Given the description of an element on the screen output the (x, y) to click on. 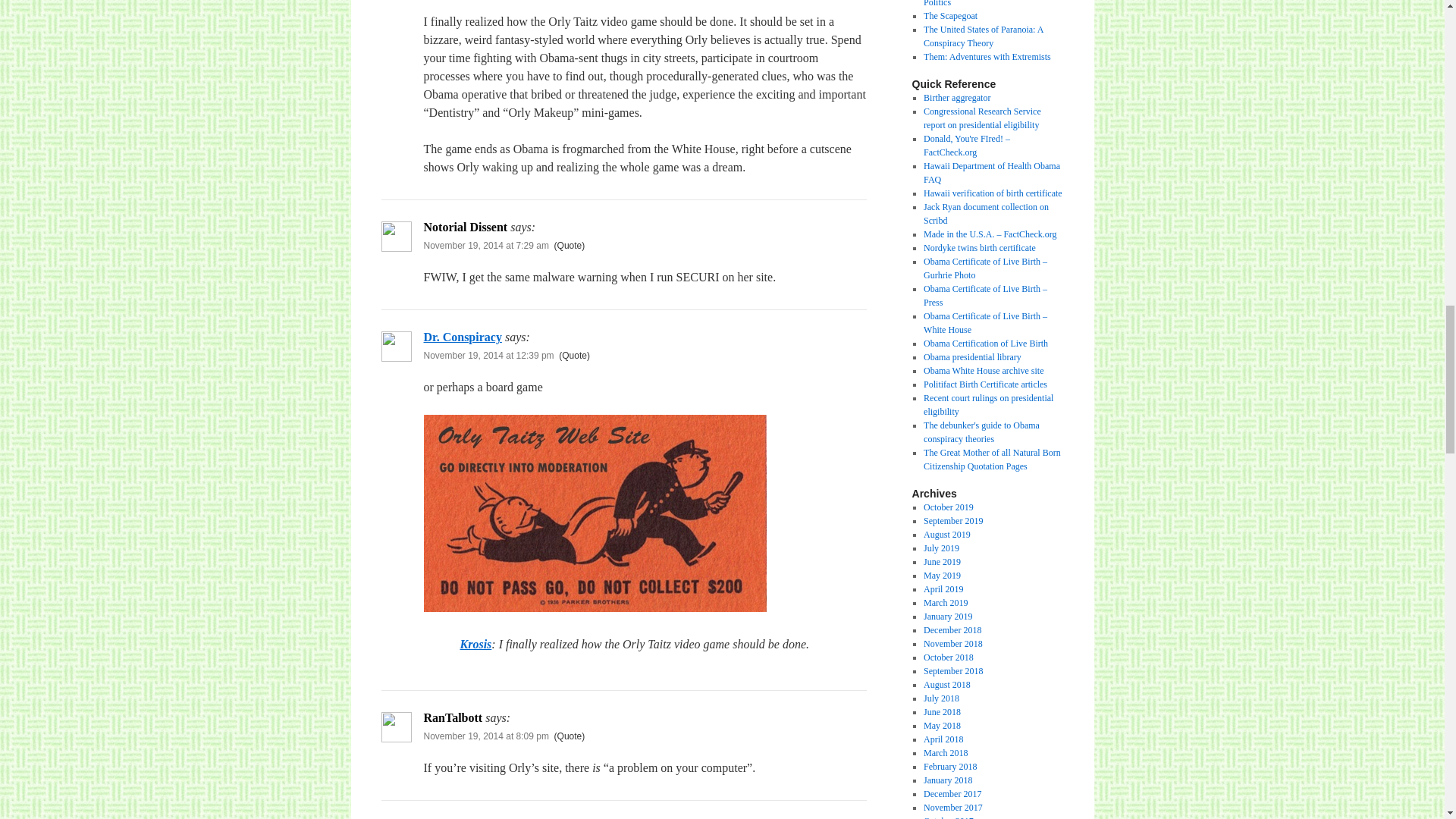
November 19, 2014 at 12:39 pm (488, 355)
Dr. Conspiracy (461, 336)
Click here or select text to quote comment (574, 355)
Click here or select text to quote comment (569, 245)
Krosis (476, 644)
November 19, 2014 at 7:29 am (485, 245)
November 19, 2014 at 8:09 pm (485, 736)
Click here or select text to quote comment (569, 736)
